Given the description of an element on the screen output the (x, y) to click on. 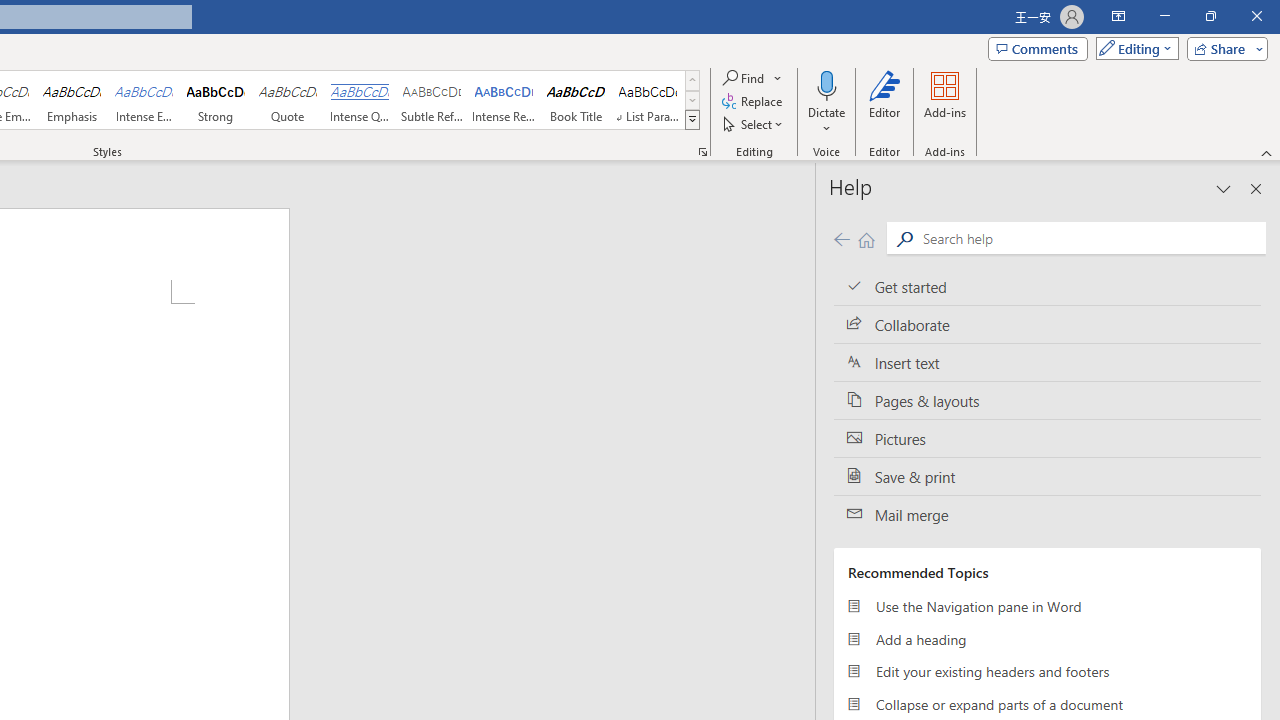
Emphasis (71, 100)
Intense Quote (359, 100)
Collapse or expand parts of a document (1047, 704)
Pages & layouts (1047, 400)
Intense Emphasis (143, 100)
Add a heading (1047, 638)
